Given the description of an element on the screen output the (x, y) to click on. 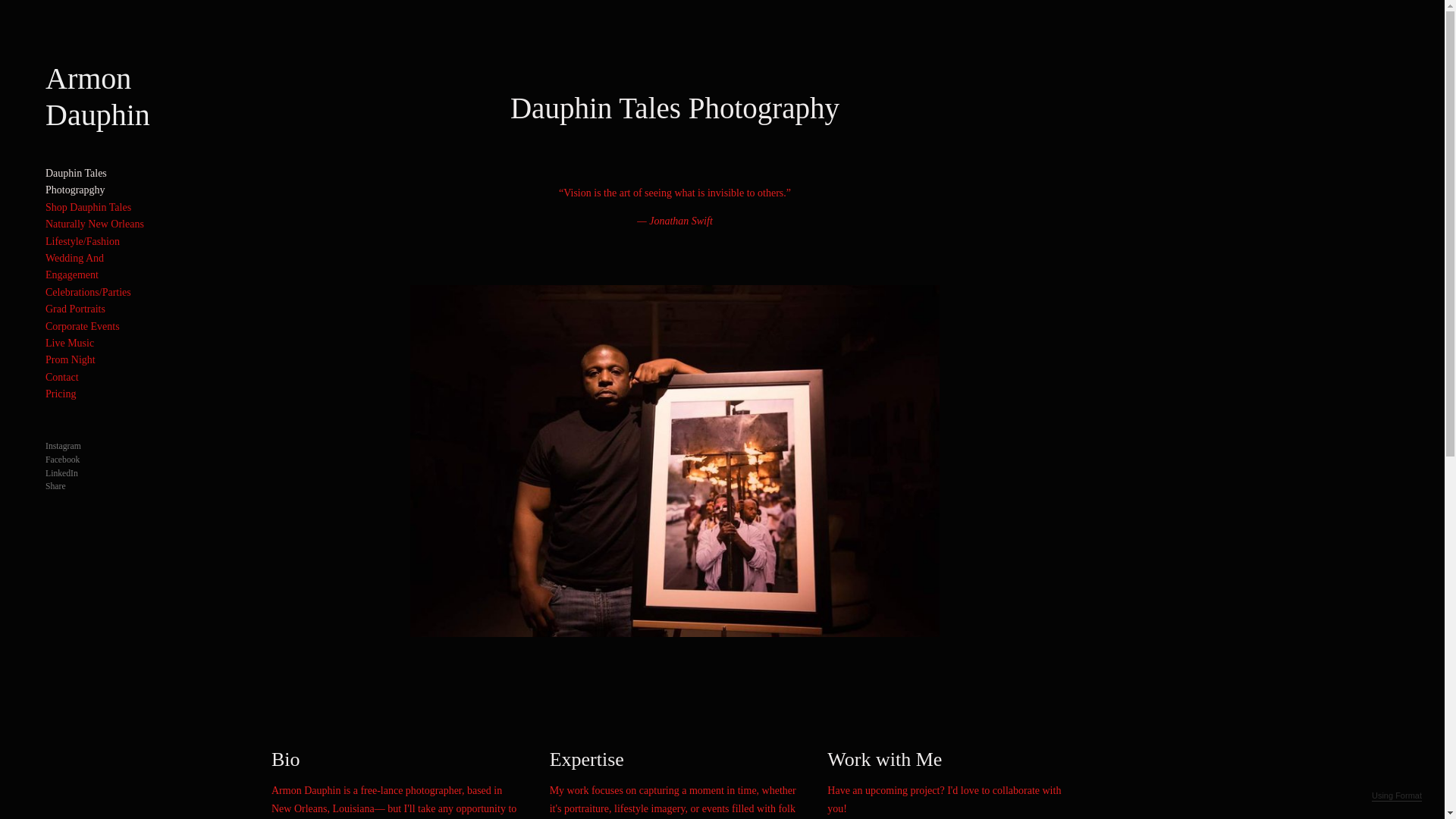
Prom Night (70, 359)
Share (55, 486)
Shop Dauphin Tales (88, 206)
Armon Dauphin (97, 96)
Facebook (62, 459)
Naturally New Orleans (94, 224)
Dauphin Tales Photograpghy (75, 181)
Instagram (63, 446)
LinkedIn (61, 473)
Live Music (69, 342)
Contact (61, 377)
Pricing (60, 393)
Instagram (63, 446)
Share (55, 486)
Corporate Events (82, 326)
